Given the description of an element on the screen output the (x, y) to click on. 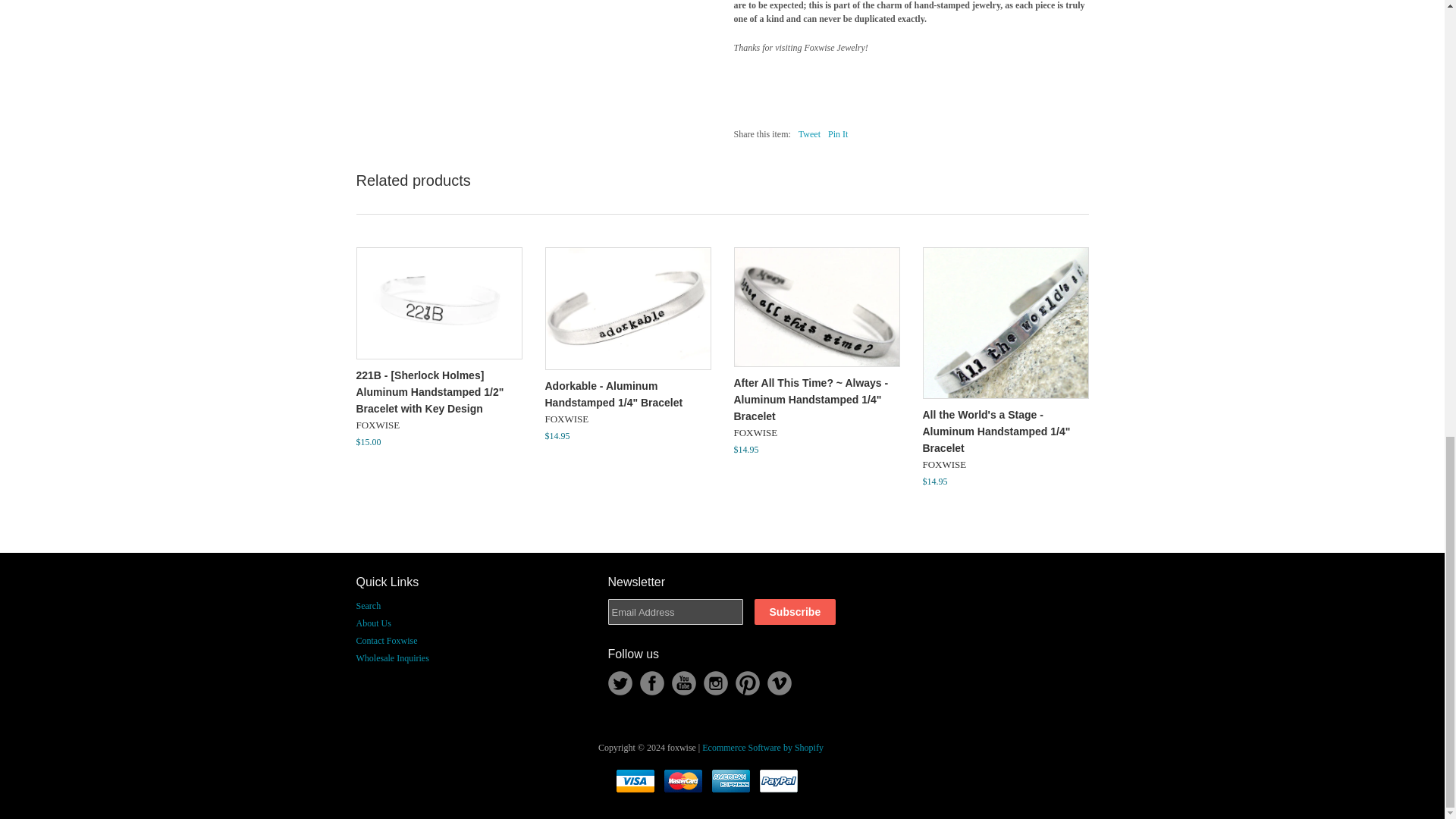
Contact Foxwise (386, 640)
foxwise on Facebook (651, 682)
Subscribe (794, 611)
foxwise on Pinterest (747, 682)
About Us (373, 623)
foxwise on YouTube (683, 682)
foxwise on Instagram (715, 682)
foxwise on Twitter (619, 682)
Wholesale Inquiries (392, 657)
foxwise on Vimeo (779, 682)
Search (368, 605)
